Given the description of an element on the screen output the (x, y) to click on. 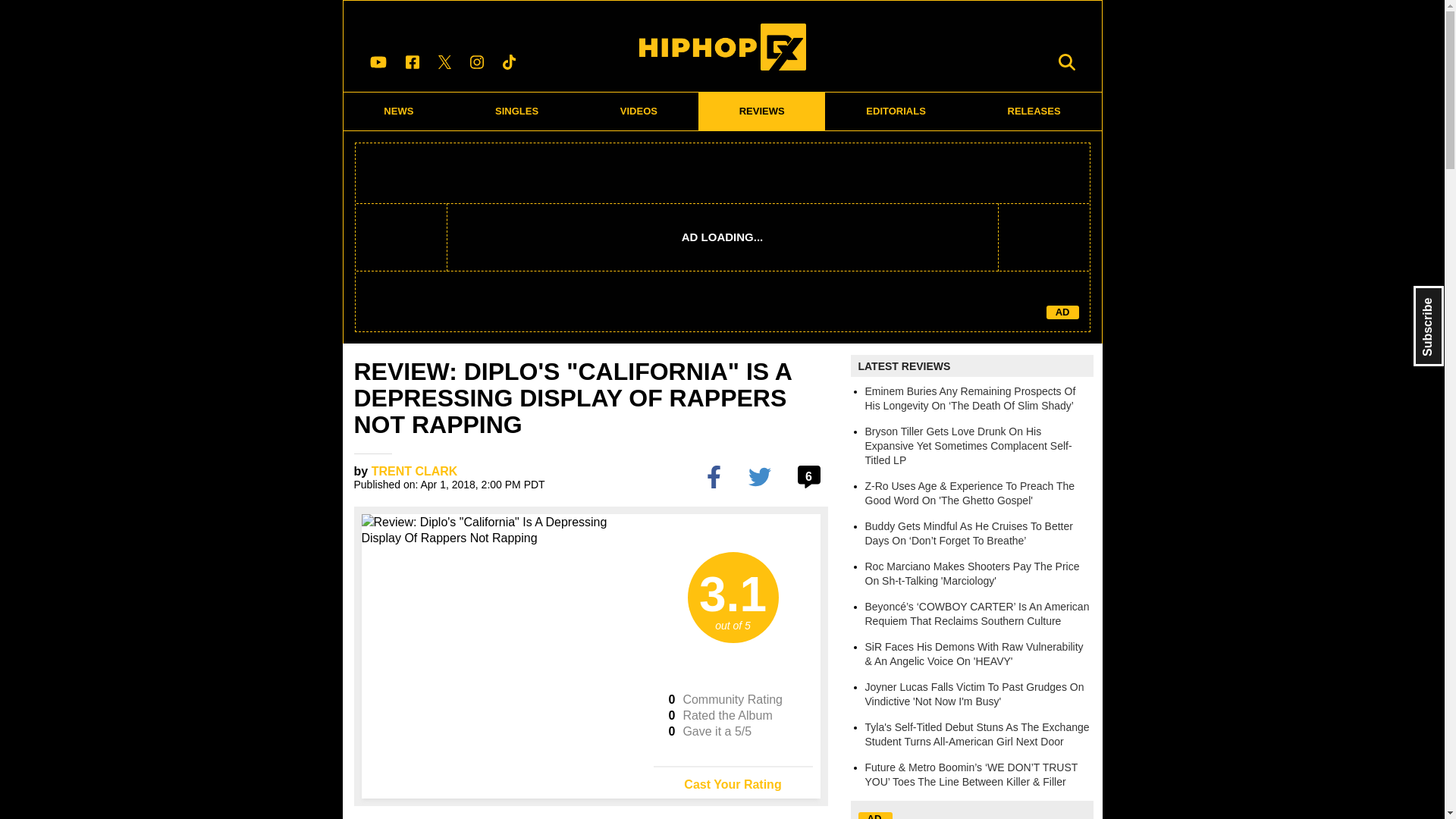
REVIEWS (761, 111)
VIDEOS (638, 111)
6 (810, 477)
SINGLES (516, 111)
Cast Your Rating (732, 778)
TRENT CLARK (414, 471)
RELEASES (1034, 111)
NEWS (398, 111)
EDITORIALS (895, 111)
